Given the description of an element on the screen output the (x, y) to click on. 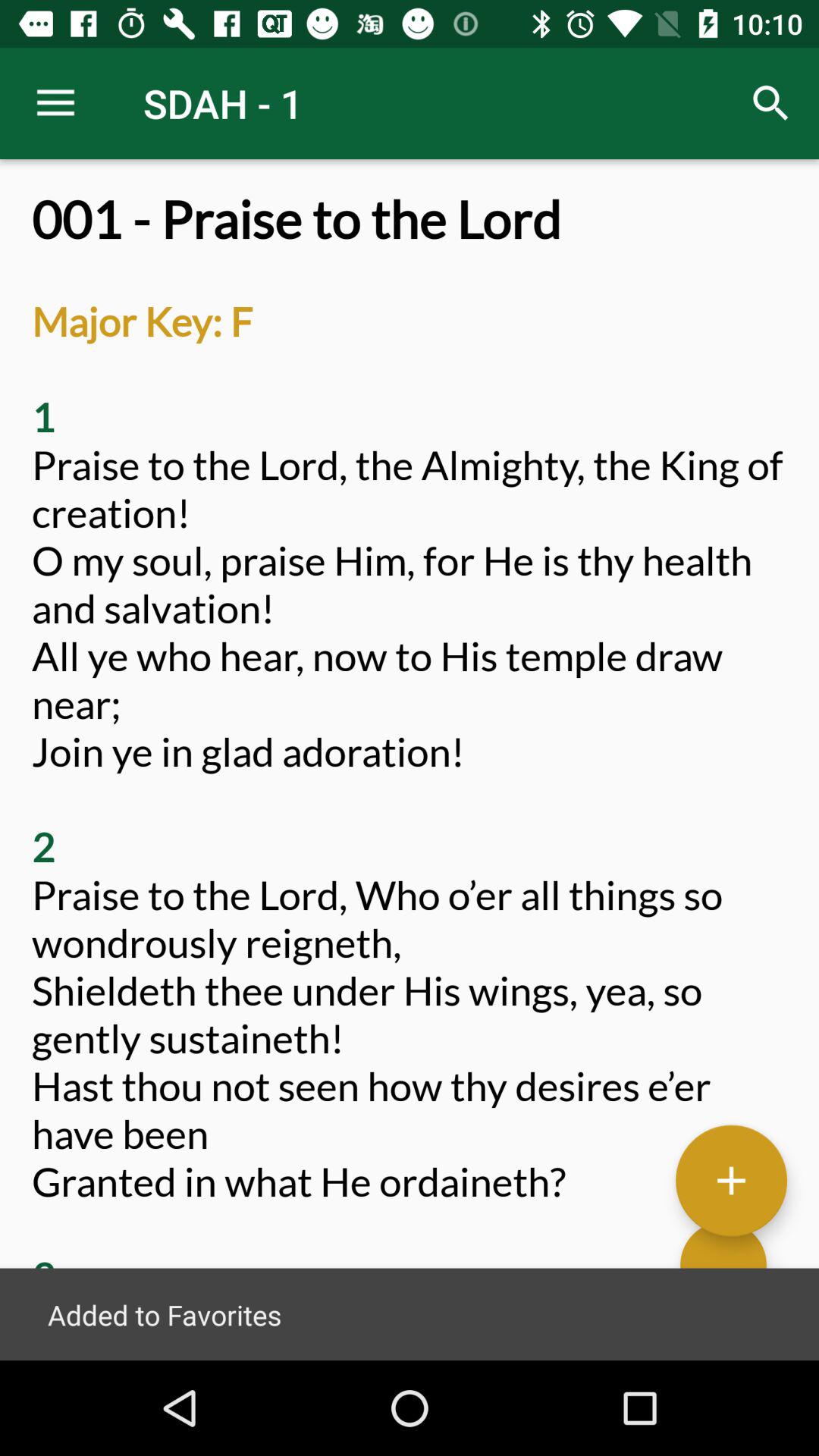
open 001 praise to at the center (409, 775)
